Given the description of an element on the screen output the (x, y) to click on. 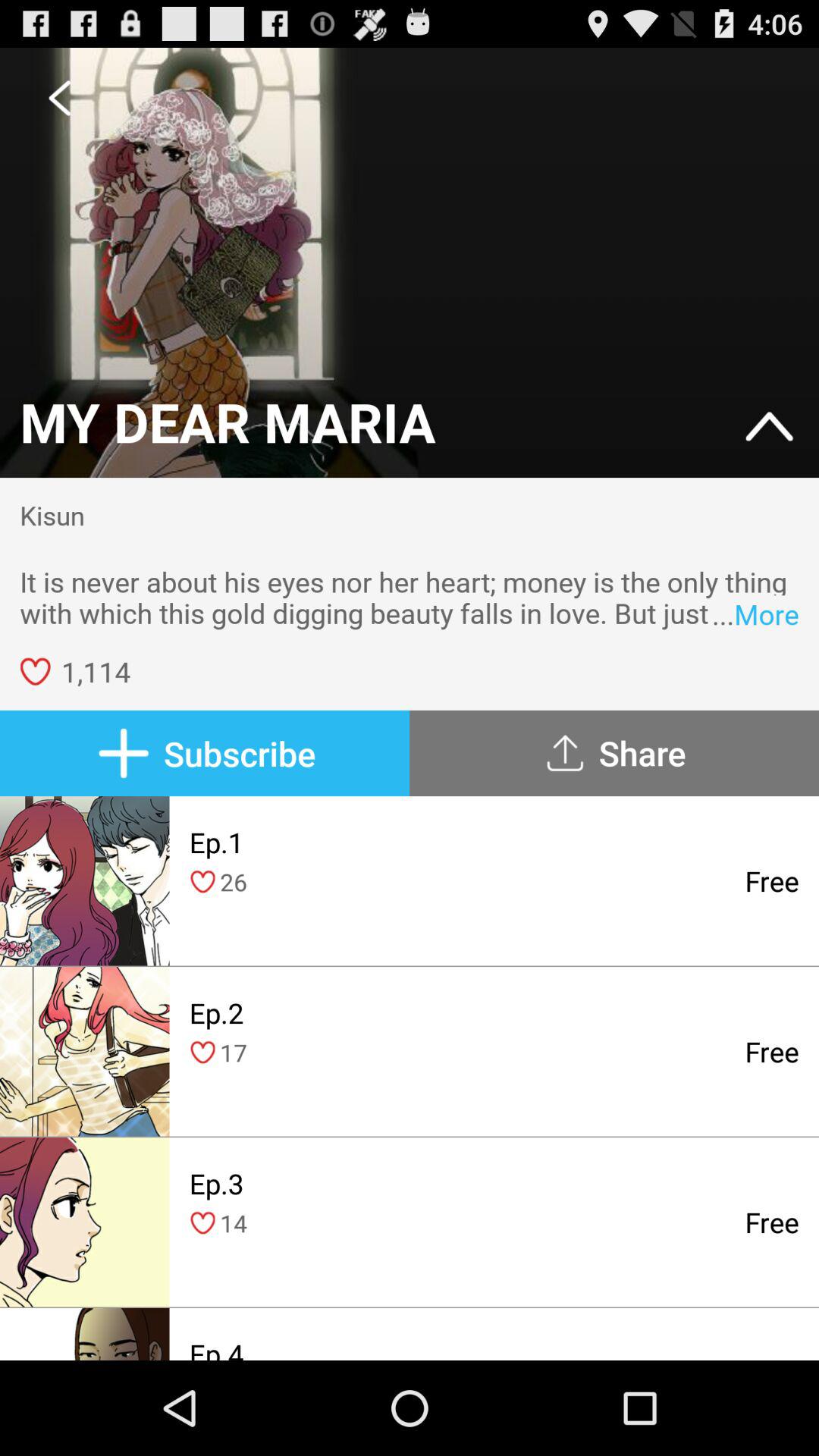
click on heart symbol left to 1114 (35, 671)
click on icon next to my dear maria (769, 427)
click on share next to subscribe above free (614, 753)
